Given the description of an element on the screen output the (x, y) to click on. 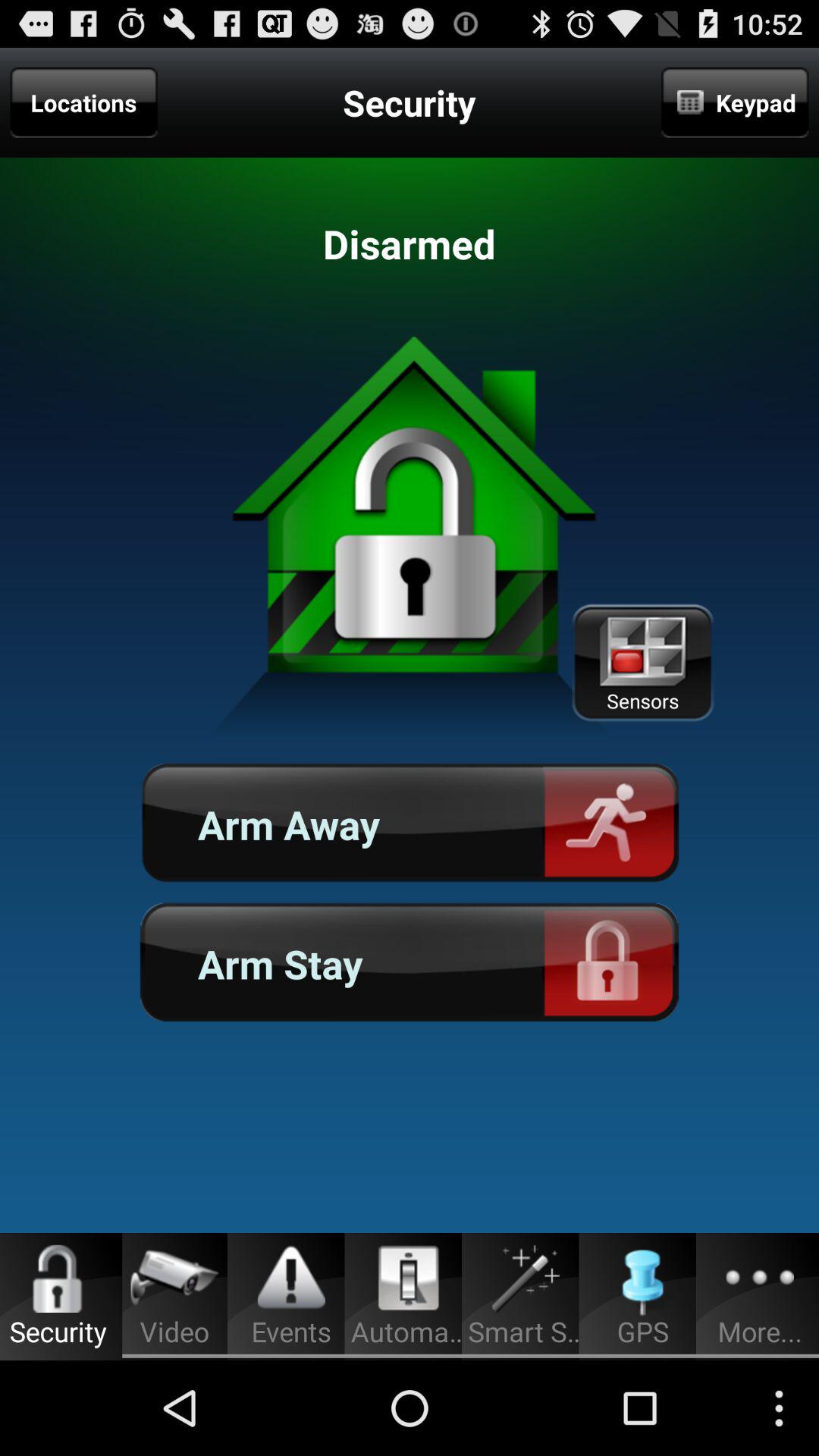
tap the button below the arm away icon (409, 963)
